Given the description of an element on the screen output the (x, y) to click on. 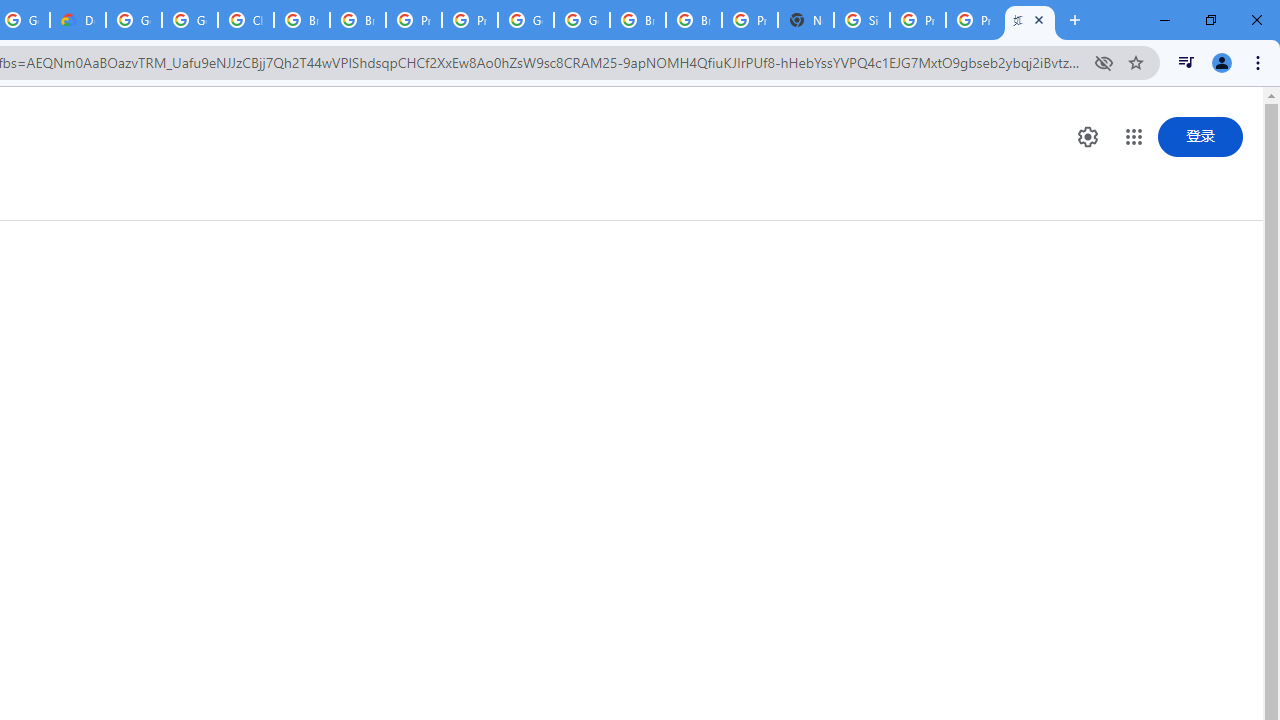
New Tab (806, 20)
